Given the description of an element on the screen output the (x, y) to click on. 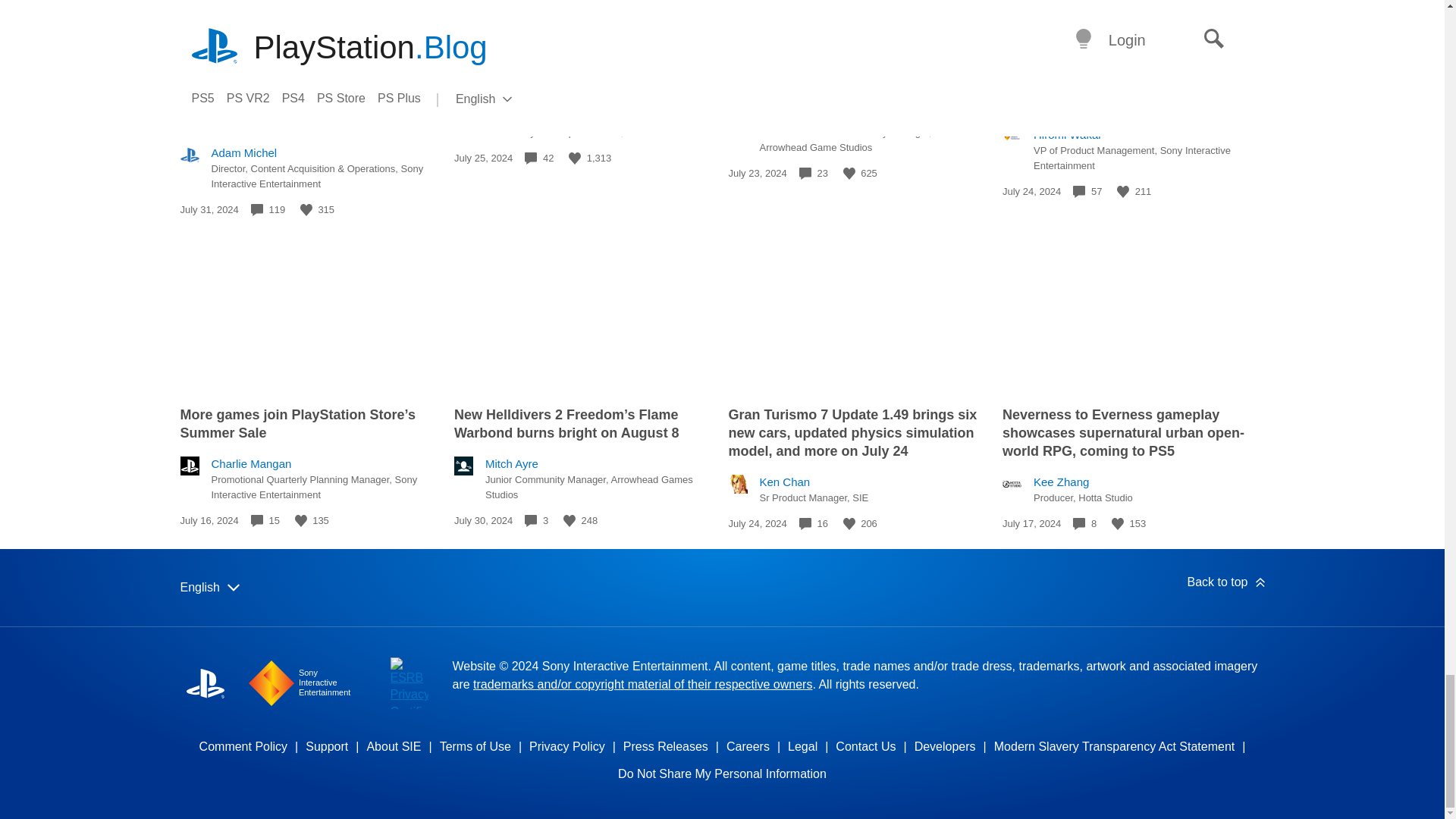
Like this (574, 158)
Like this (306, 209)
Like this (849, 173)
Like this (1122, 191)
